Given the description of an element on the screen output the (x, y) to click on. 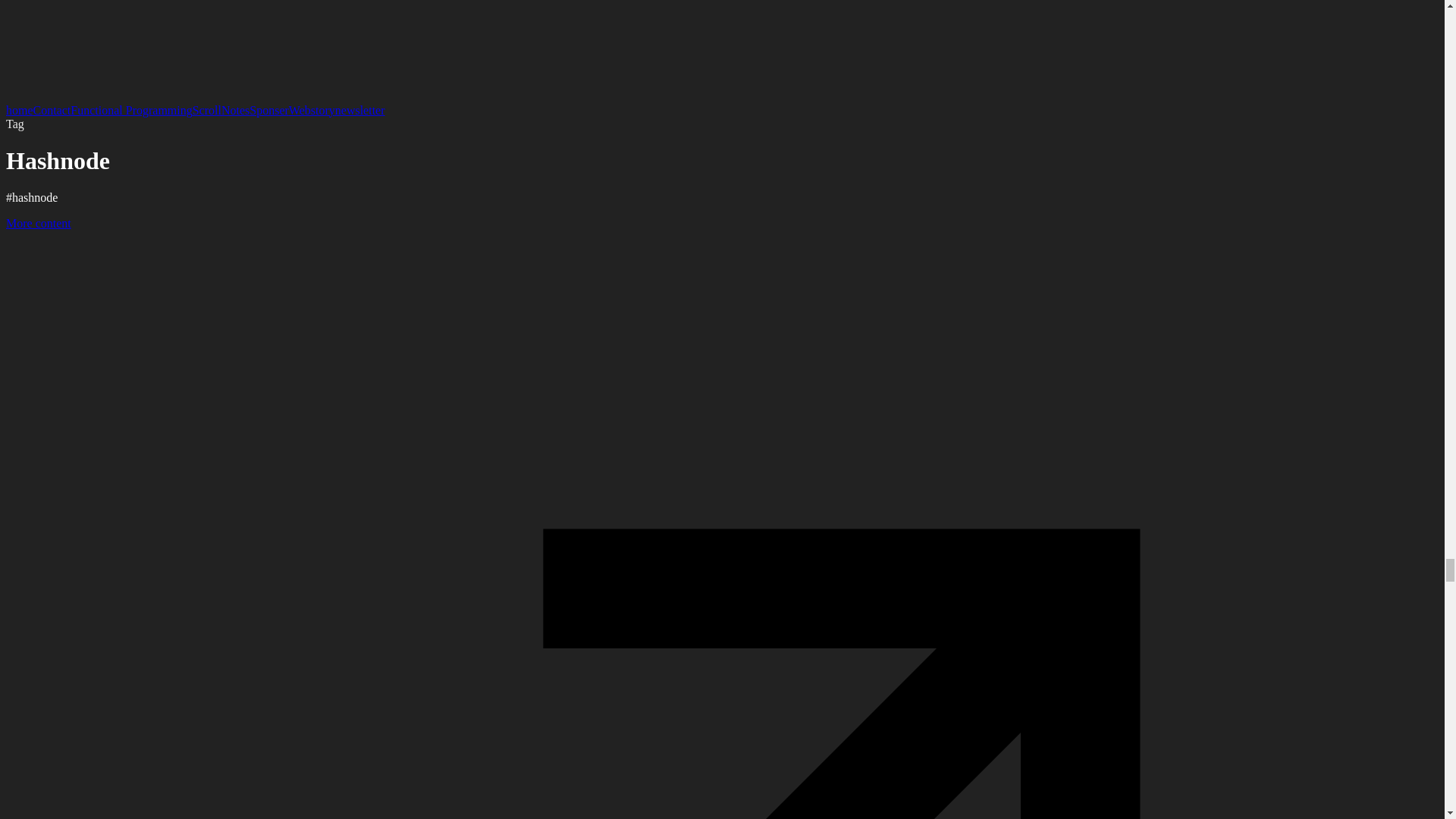
Sponser (268, 110)
home (19, 110)
Scroll (206, 110)
newsletter (359, 110)
Notes (234, 110)
Webstory (311, 110)
Contact (52, 110)
Functional Programming (130, 110)
